Given the description of an element on the screen output the (x, y) to click on. 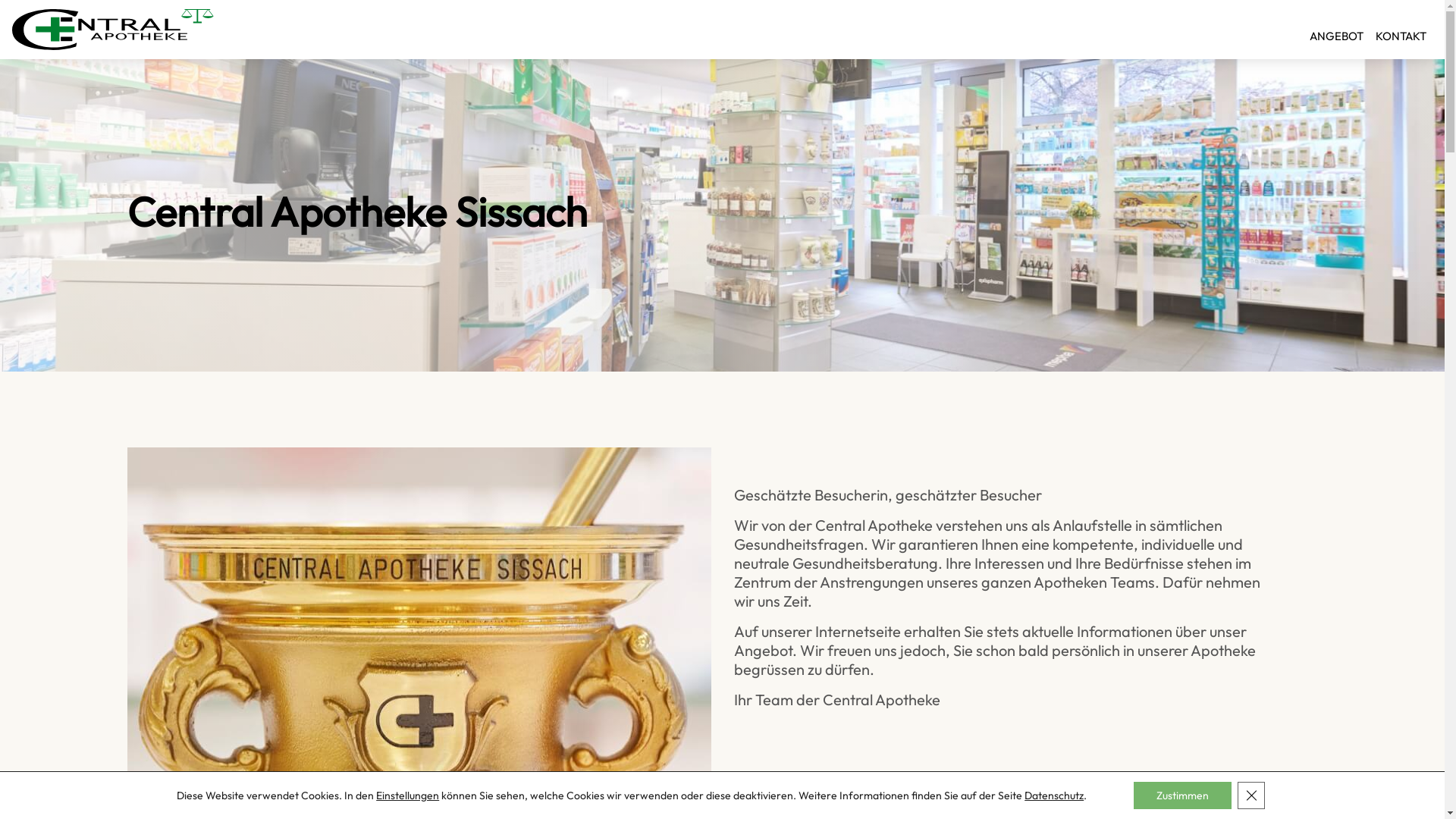
ANGEBOT Element type: text (1336, 29)
KONTAKT Element type: text (1400, 29)
Datenschutz Element type: text (1053, 795)
Zustimmen Element type: text (1182, 795)
Einstellungen Element type: text (407, 795)
